Given the description of an element on the screen output the (x, y) to click on. 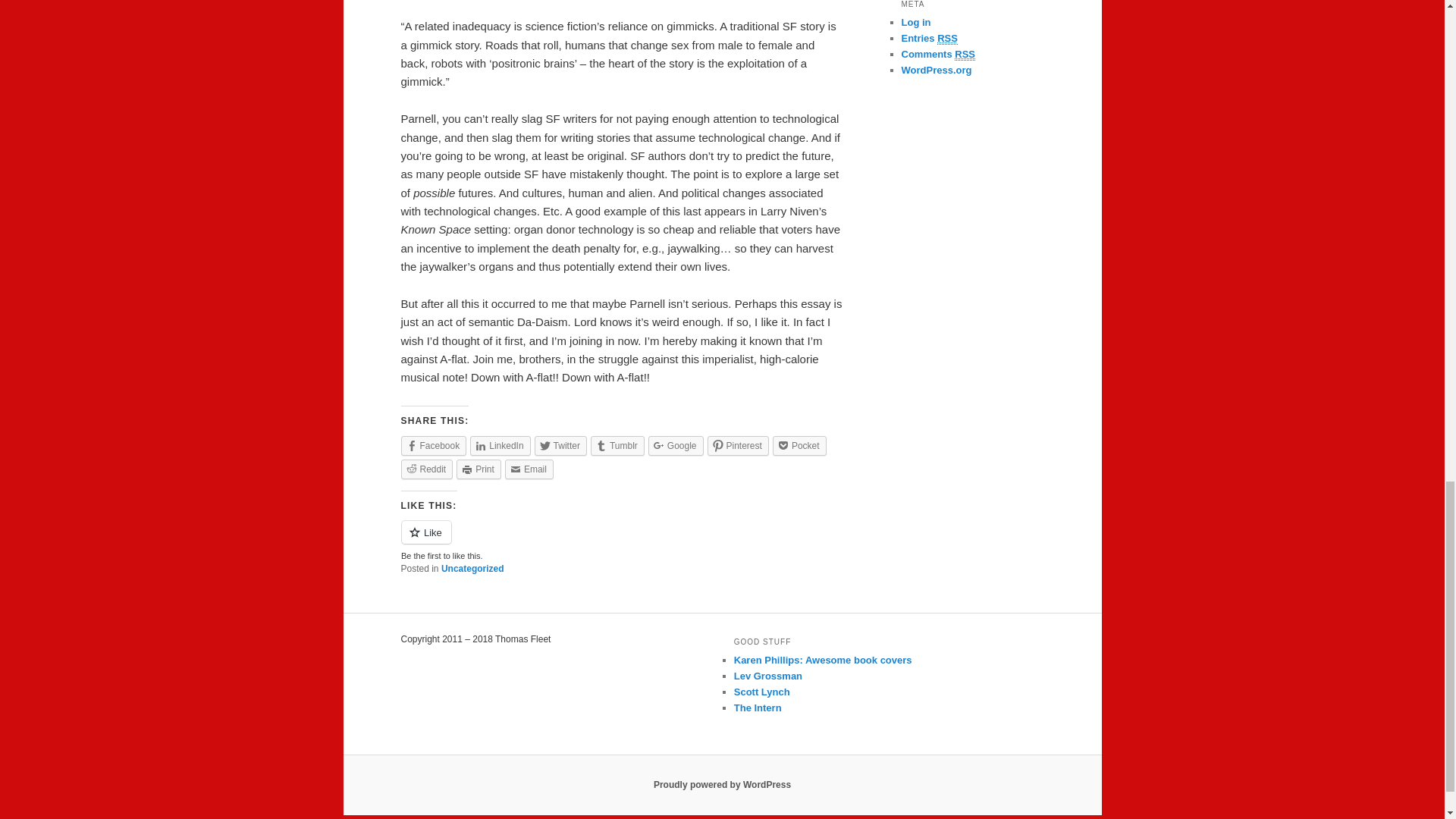
Uncategorized (472, 568)
Really Simple Syndication (947, 38)
Click to share on Facebook (432, 445)
Click to share on Twitter (560, 445)
Click to share on LinkedIn (499, 445)
Twitter (560, 445)
Pocket (800, 445)
Pinterest (737, 445)
Click to email this to a friend (529, 469)
Really Simple Syndication (965, 54)
Click to print (478, 469)
Reddit (426, 469)
Click to share on Pinterest (737, 445)
Facebook (432, 445)
